Given the description of an element on the screen output the (x, y) to click on. 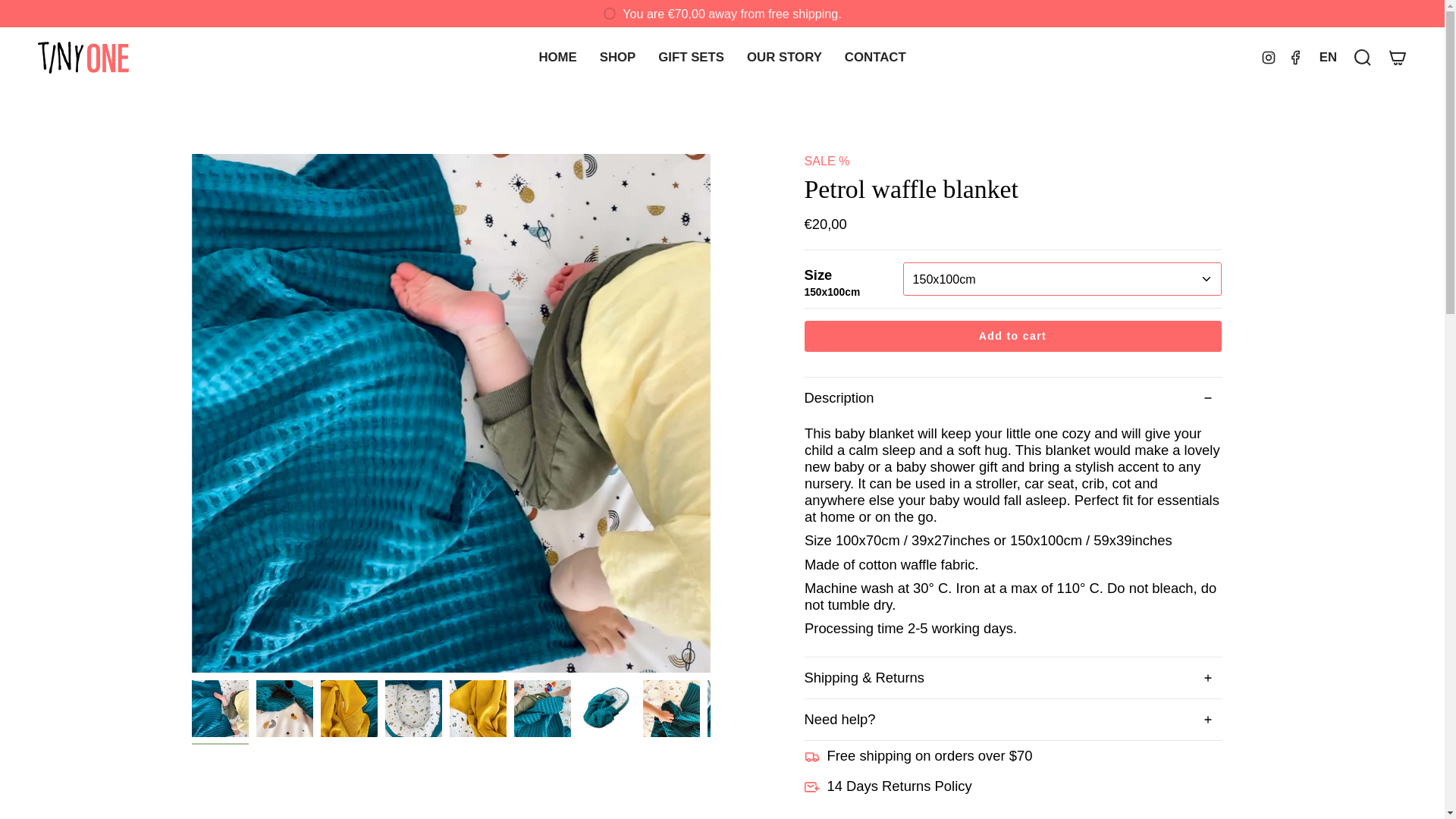
Search (1362, 57)
EN (1328, 57)
OUR STORY (783, 57)
HOME (557, 57)
Cart (1397, 57)
CONTACT (874, 57)
GIFT SETS (690, 57)
SHOP (617, 57)
